Given the description of an element on the screen output the (x, y) to click on. 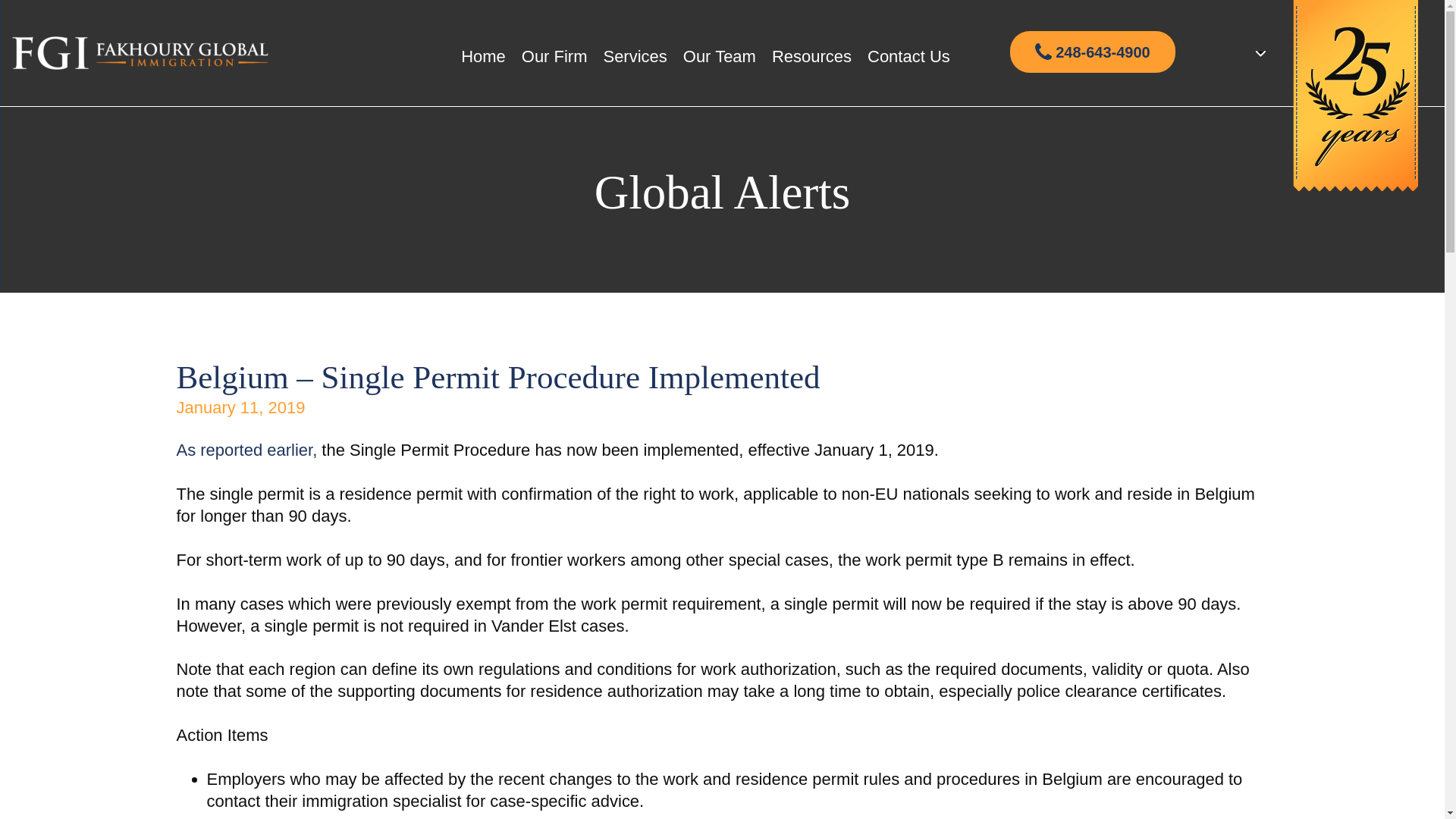
Contact Us (908, 56)
Our Team (718, 56)
Home (483, 56)
248-643-4900 (1092, 51)
Our Firm (554, 56)
Fakhoury Law Group, PC (140, 53)
Services (634, 56)
Resources (811, 56)
As reported earlier, (246, 449)
